Given the description of an element on the screen output the (x, y) to click on. 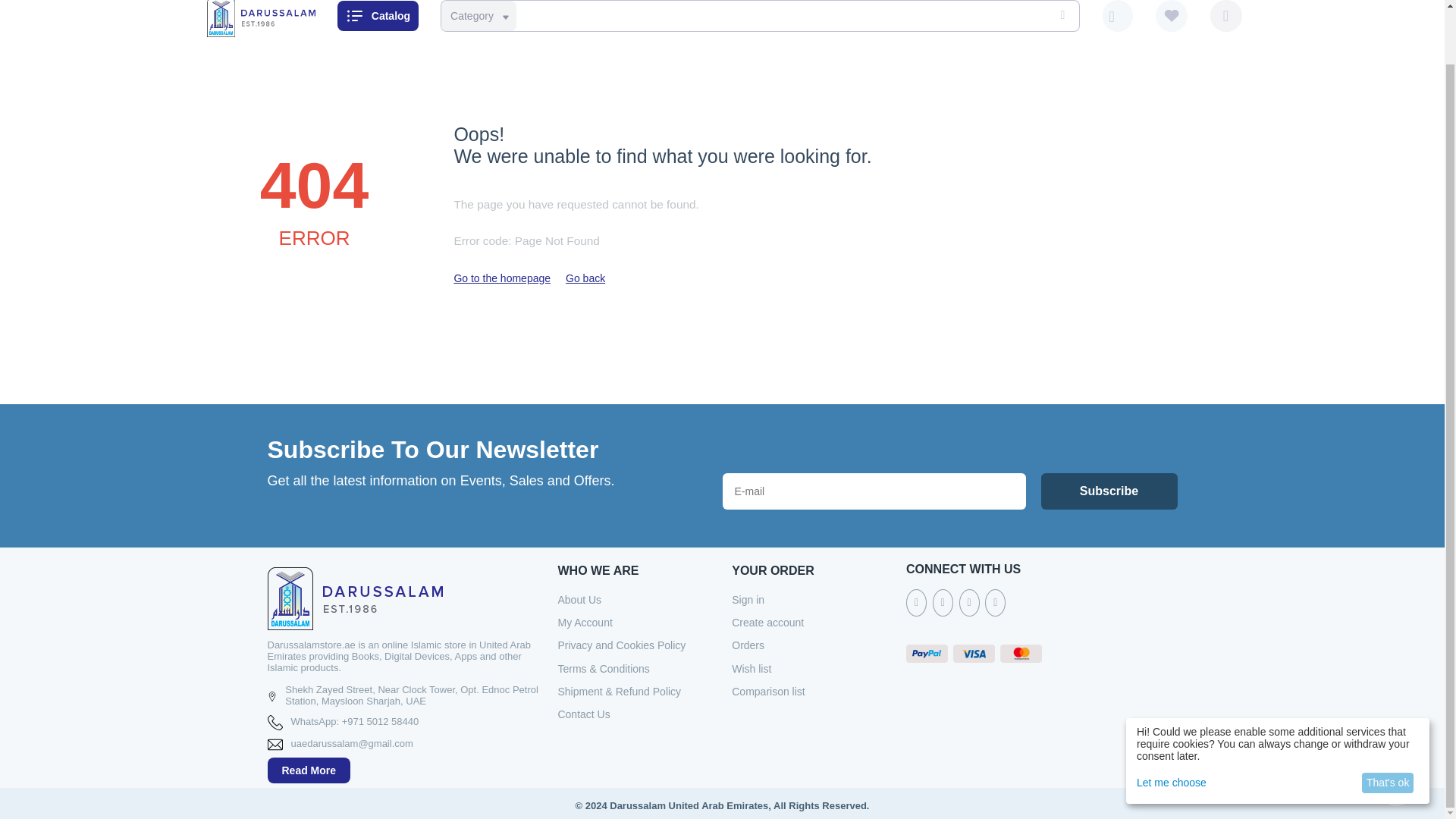
Darussalam Publishers (260, 15)
Search products (757, 15)
Search (1060, 15)
